Given the description of an element on the screen output the (x, y) to click on. 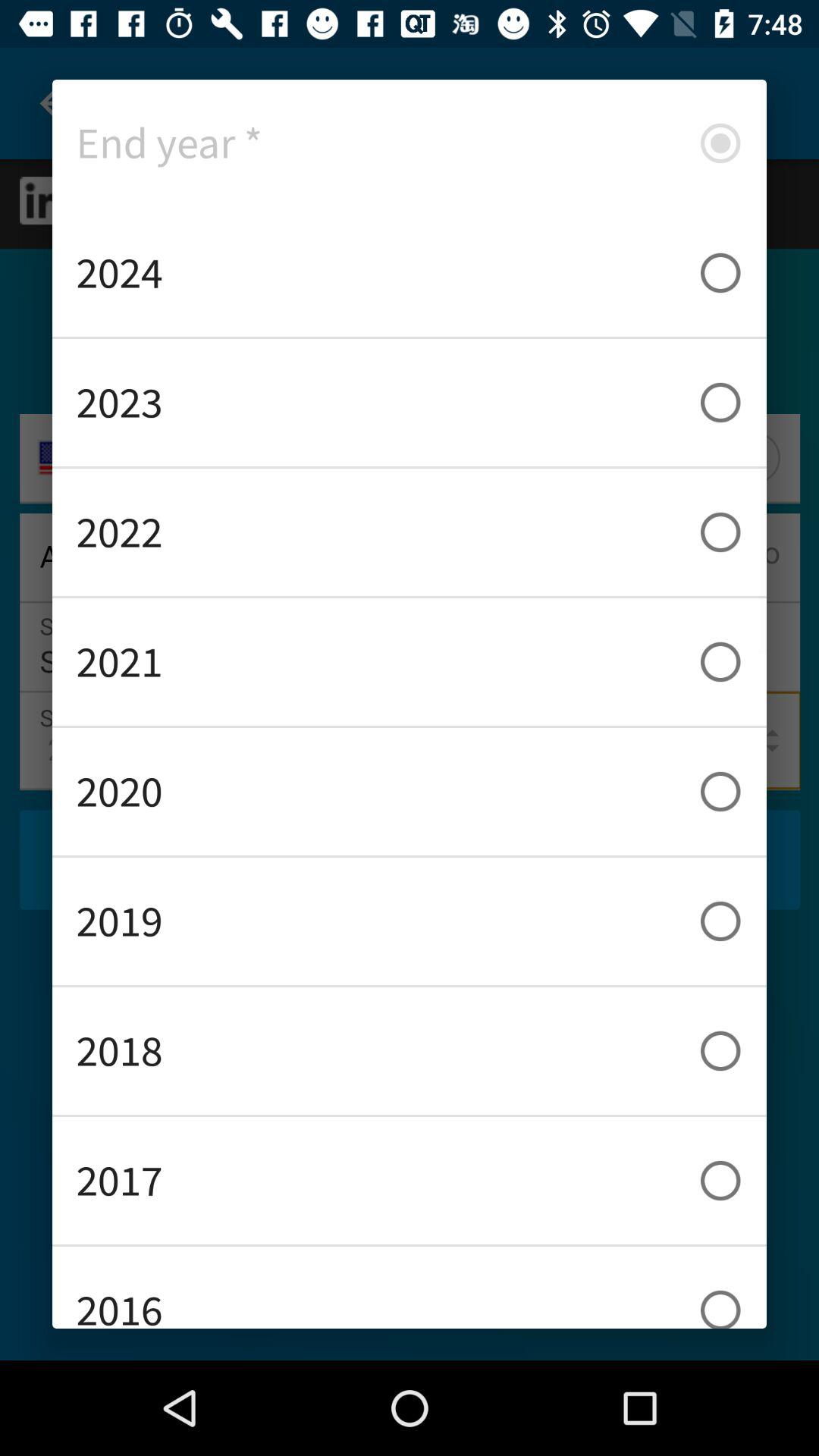
launch 2022 icon (409, 532)
